Given the description of an element on the screen output the (x, y) to click on. 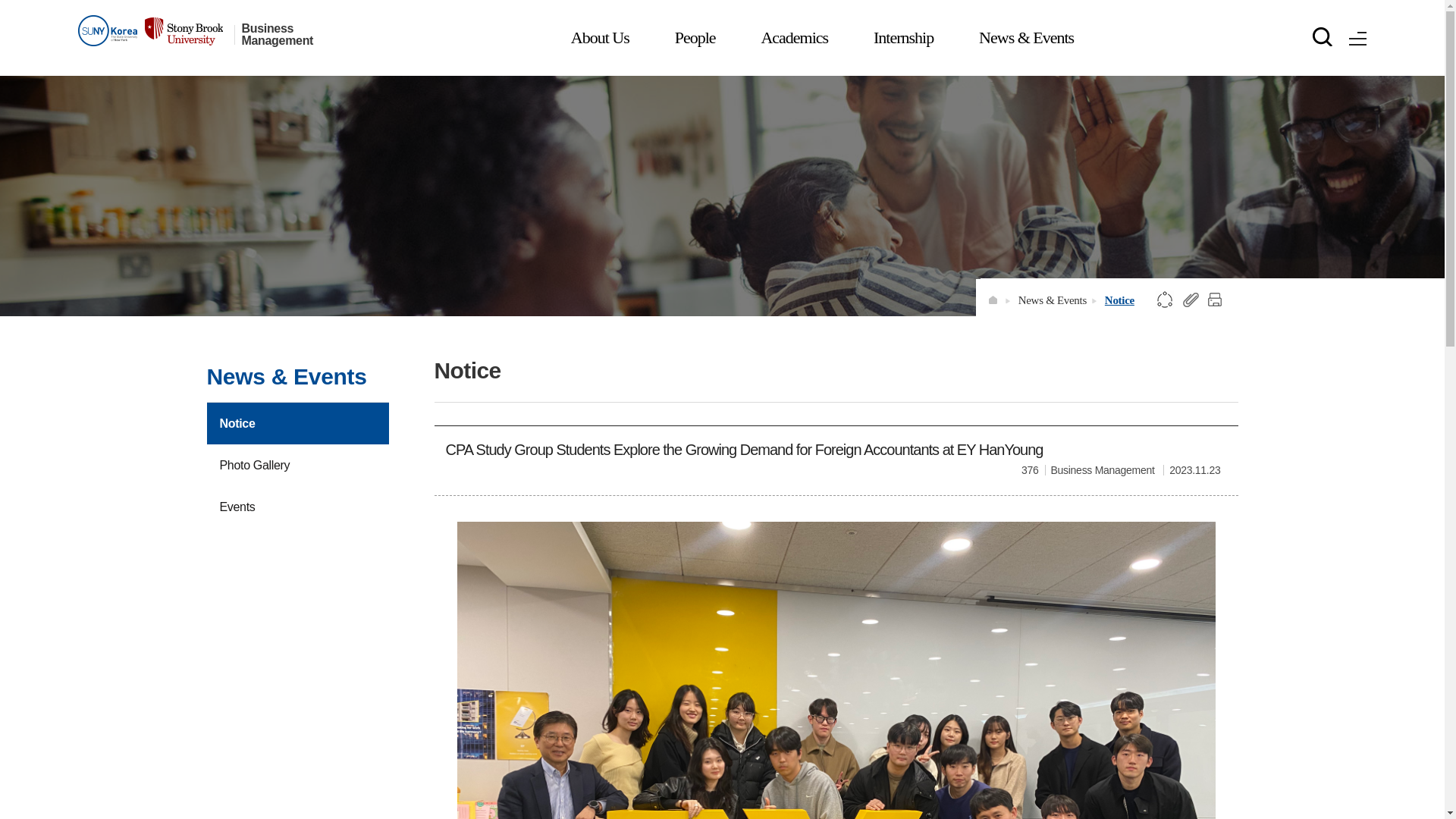
People (695, 38)
Business Management (286, 34)
Internship (903, 38)
Stony Brook University (149, 30)
Academics (794, 38)
About Us (600, 38)
